Given the description of an element on the screen output the (x, y) to click on. 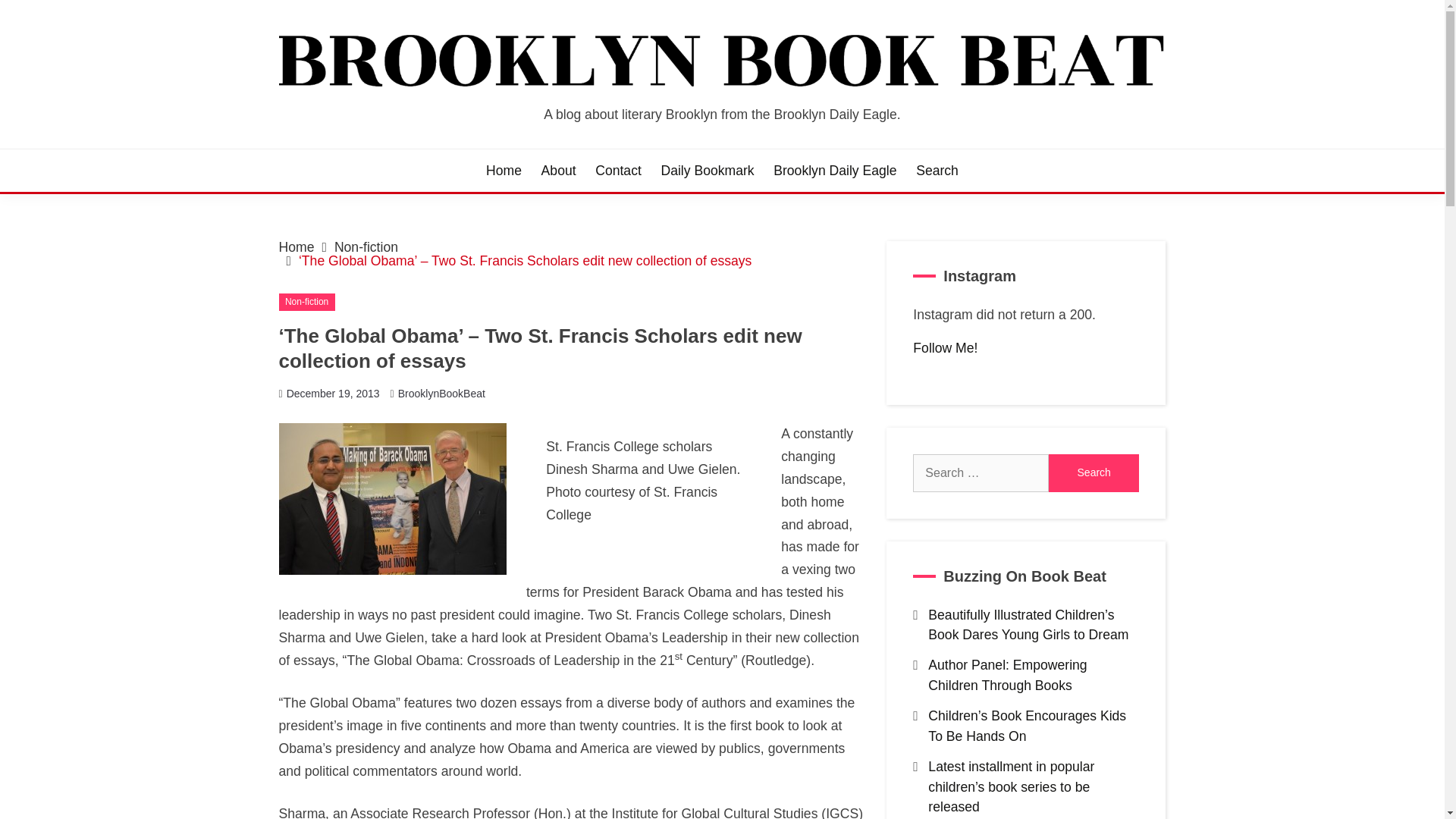
About (558, 170)
Non-fiction (365, 246)
Non-fiction (306, 302)
Home (296, 246)
Search (1093, 473)
December 19, 2013 (333, 393)
Search (1093, 473)
Daily Bookmark (707, 170)
Brooklyn Daily Eagle (834, 170)
Contact (618, 170)
